Given the description of an element on the screen output the (x, y) to click on. 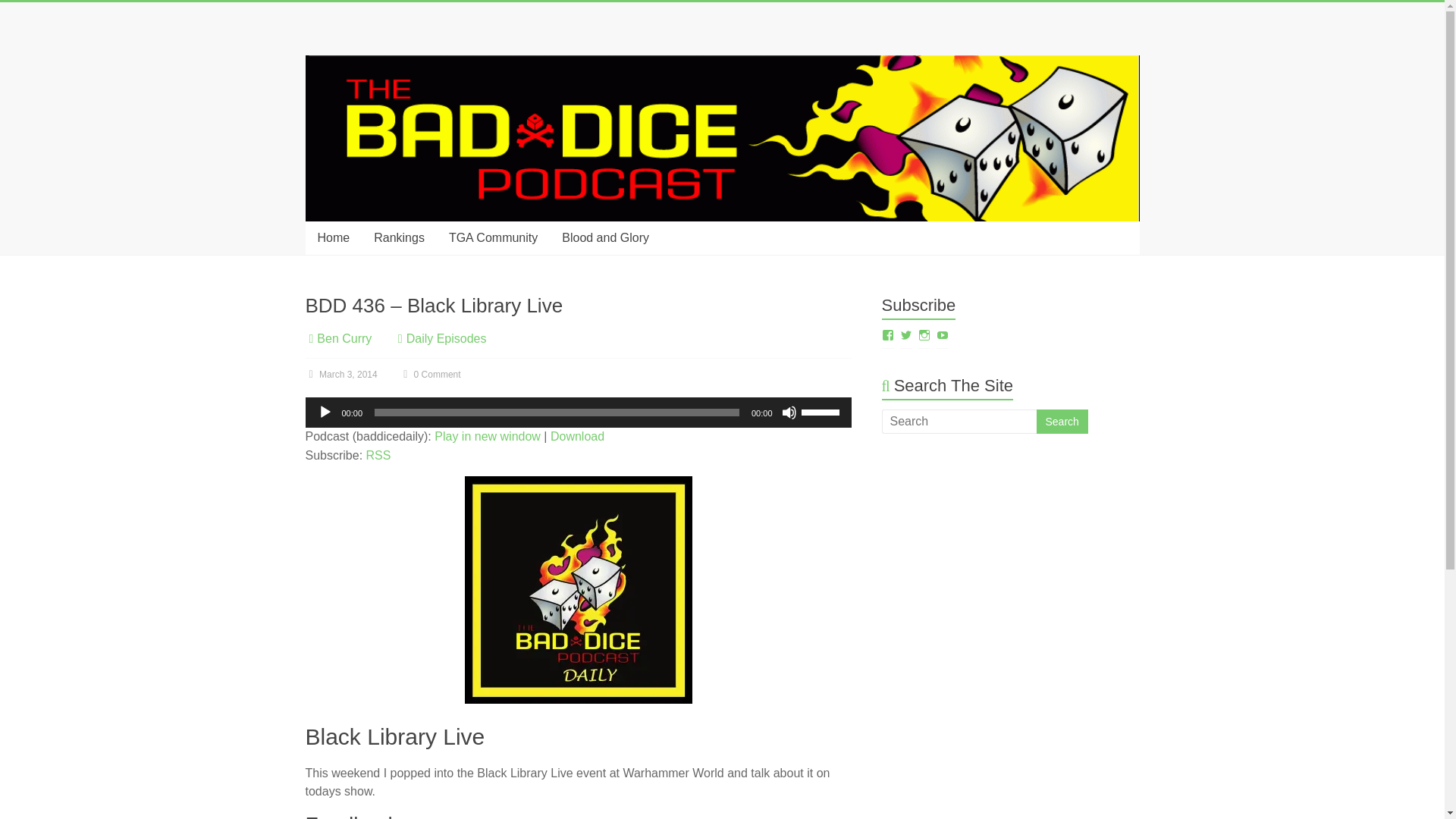
Ben Curry (344, 338)
Rankings (398, 237)
Subscribe via RSS (378, 454)
0 Comment (429, 374)
RSS (378, 454)
Play in new window (486, 436)
Download (577, 436)
Blood and Glory (605, 237)
March 3, 2014 (340, 374)
Home (332, 237)
Daily Episodes (446, 338)
Search (1061, 421)
TGA Community (493, 237)
Mute (788, 412)
Play (324, 412)
